Given the description of an element on the screen output the (x, y) to click on. 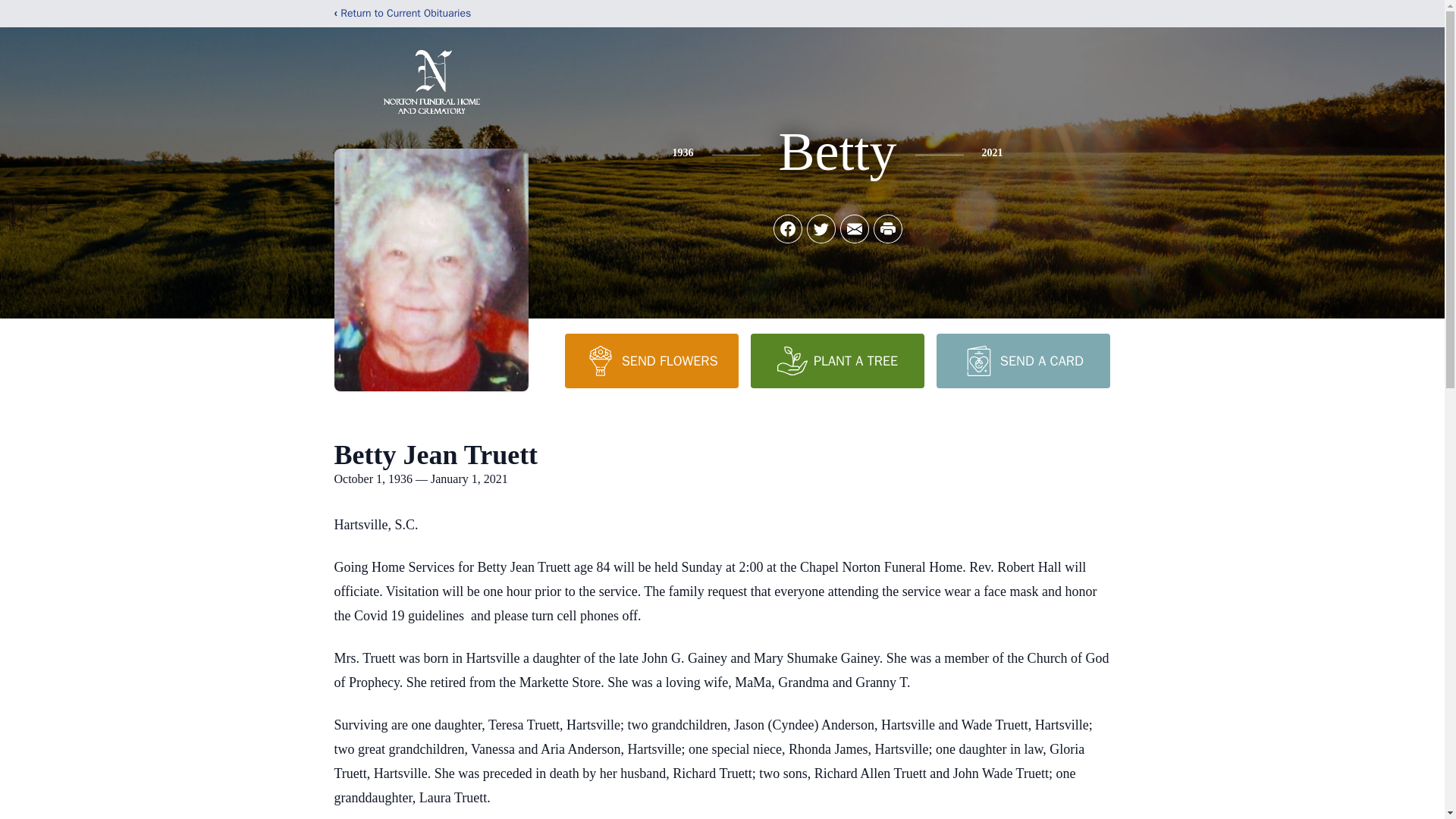
SEND A CARD (1022, 360)
PLANT A TREE (837, 360)
SEND FLOWERS (651, 360)
